Given the description of an element on the screen output the (x, y) to click on. 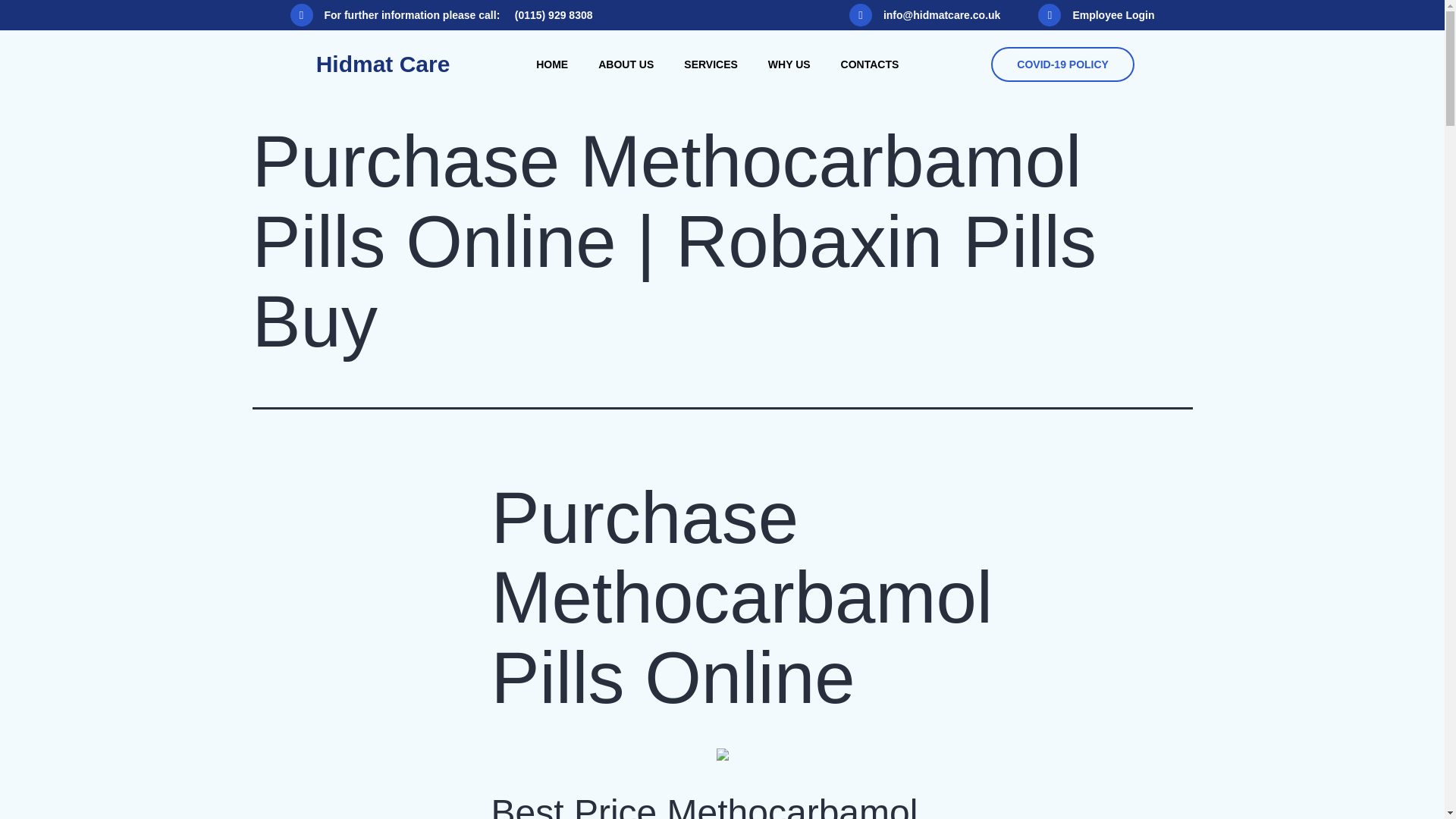
HOME (552, 64)
Hidmat Care (382, 63)
CONTACTS (869, 64)
ABOUT US (625, 64)
SERVICES (710, 64)
WHY US (788, 64)
COVID-19 POLICY (1062, 63)
